Given the description of an element on the screen output the (x, y) to click on. 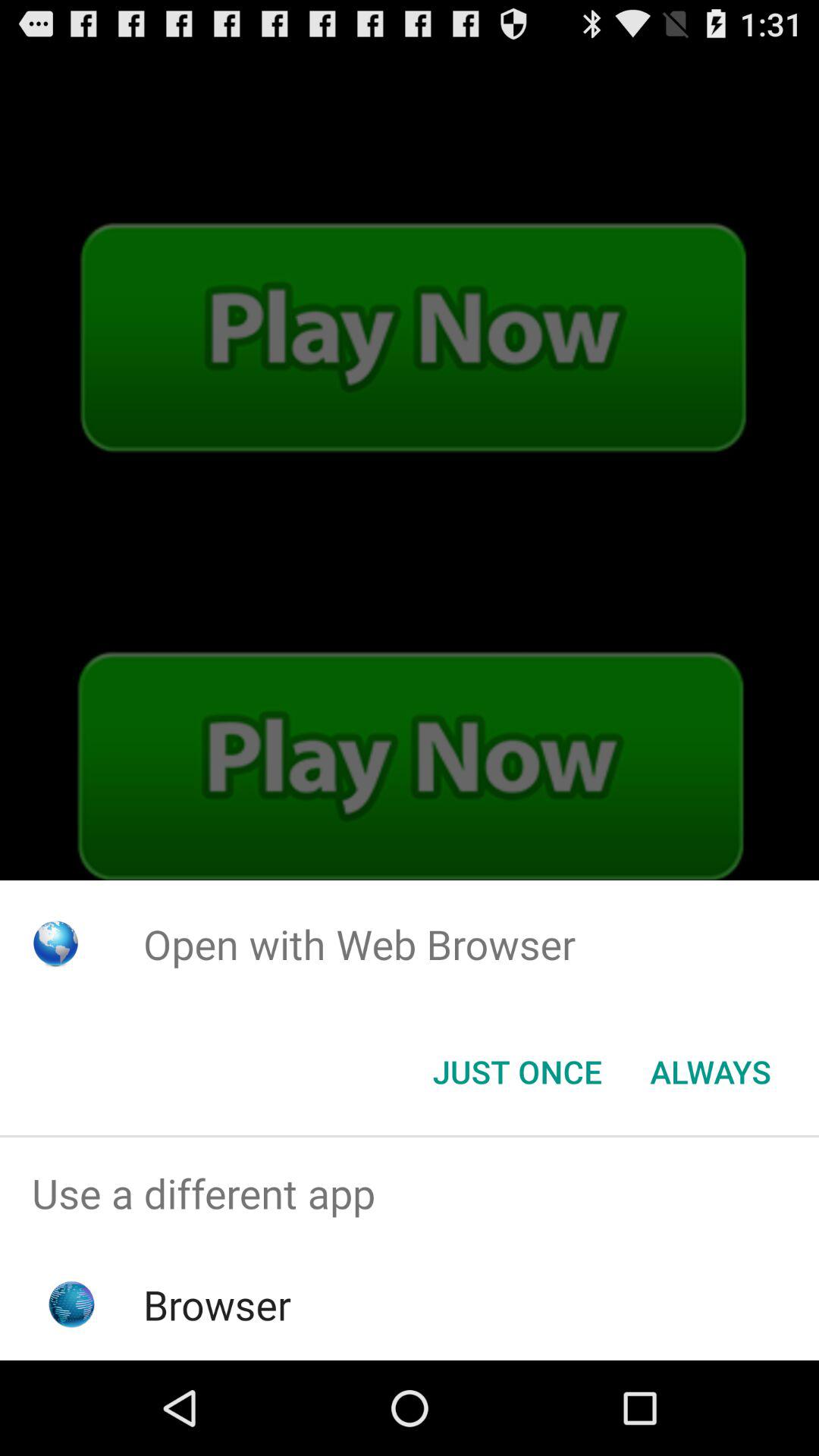
press the button to the left of the always button (517, 1071)
